Given the description of an element on the screen output the (x, y) to click on. 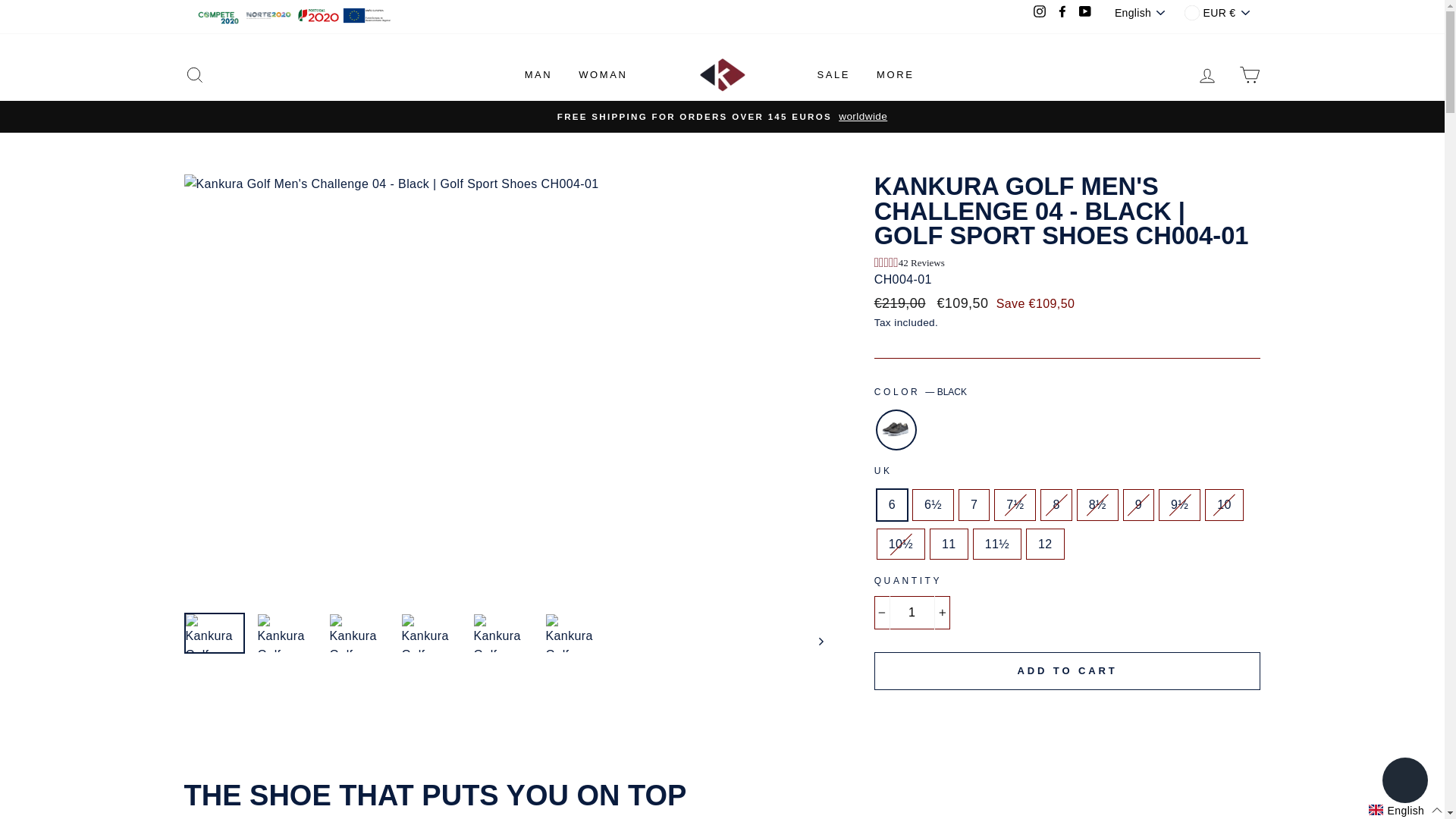
1 (912, 612)
Shopify online store chat (1404, 781)
